Given the description of an element on the screen output the (x, y) to click on. 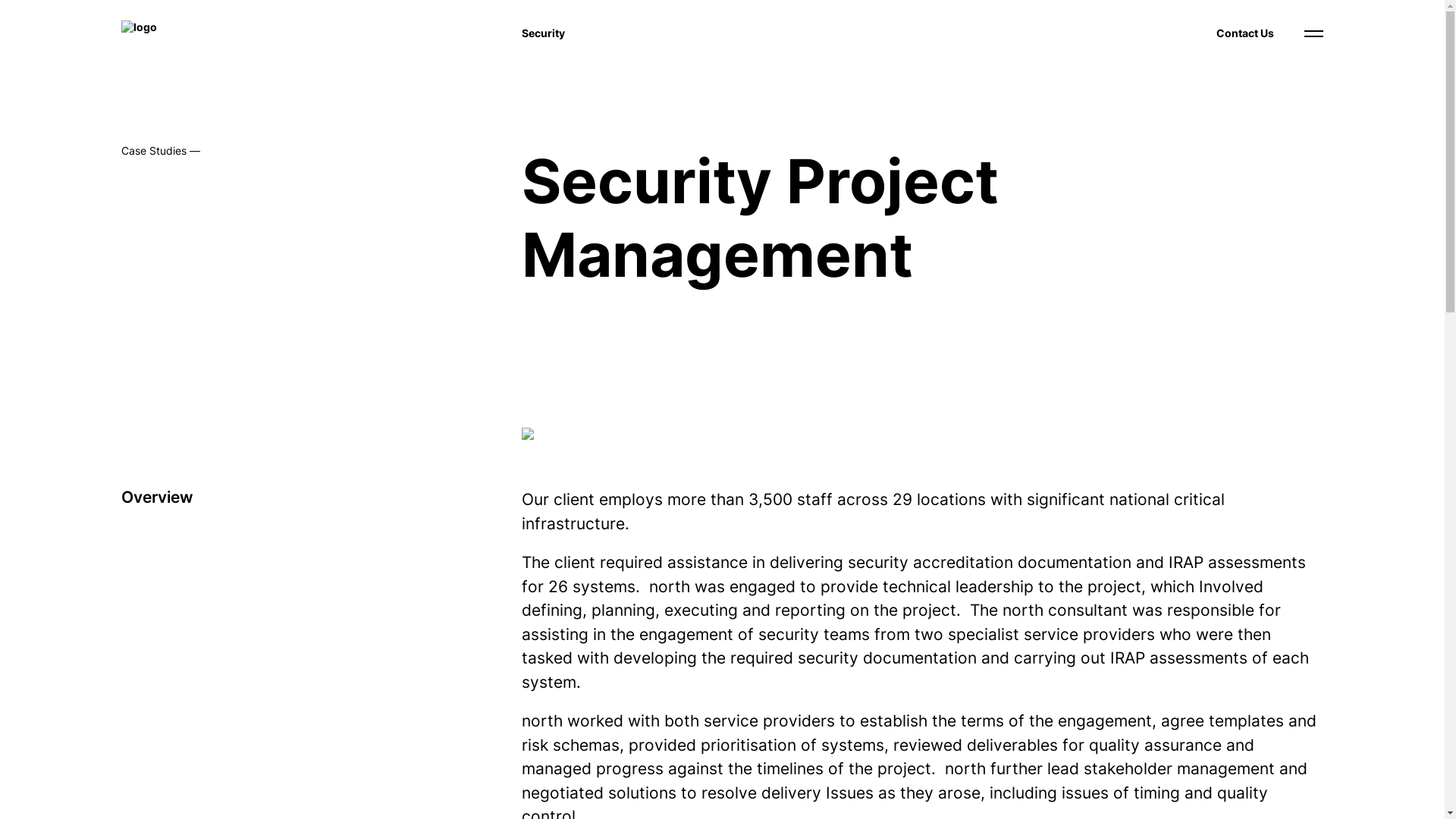
Security Element type: text (542, 32)
Contact Us Element type: text (1245, 32)
